Given the description of an element on the screen output the (x, y) to click on. 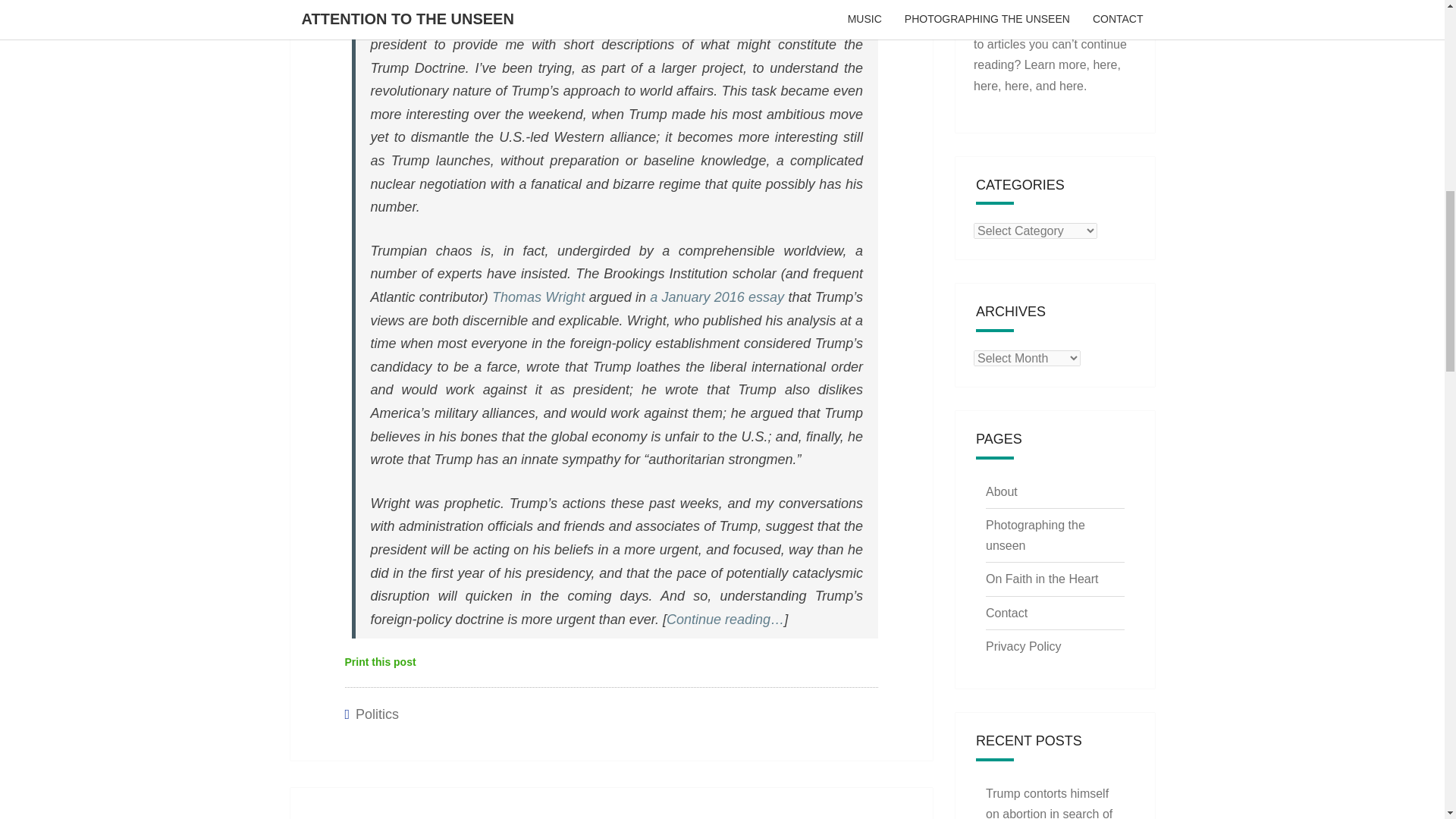
Politics (376, 713)
here (985, 84)
here (1016, 84)
Privacy Policy (1023, 645)
a January 2016 essay (716, 296)
On Faith in the Heart (1042, 578)
Print this post (378, 662)
